Given the description of an element on the screen output the (x, y) to click on. 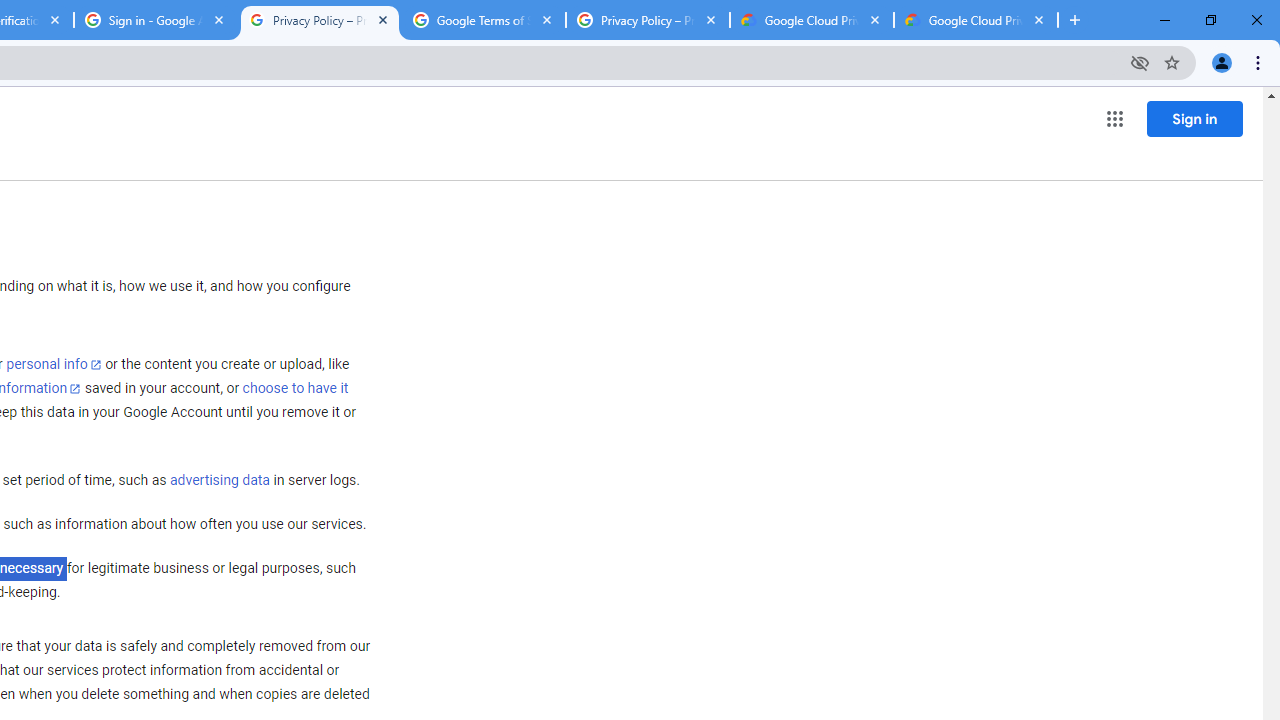
Sign in - Google Accounts (156, 20)
Google Cloud Privacy Notice (811, 20)
advertising data (219, 481)
Google Cloud Privacy Notice (975, 20)
